Given the description of an element on the screen output the (x, y) to click on. 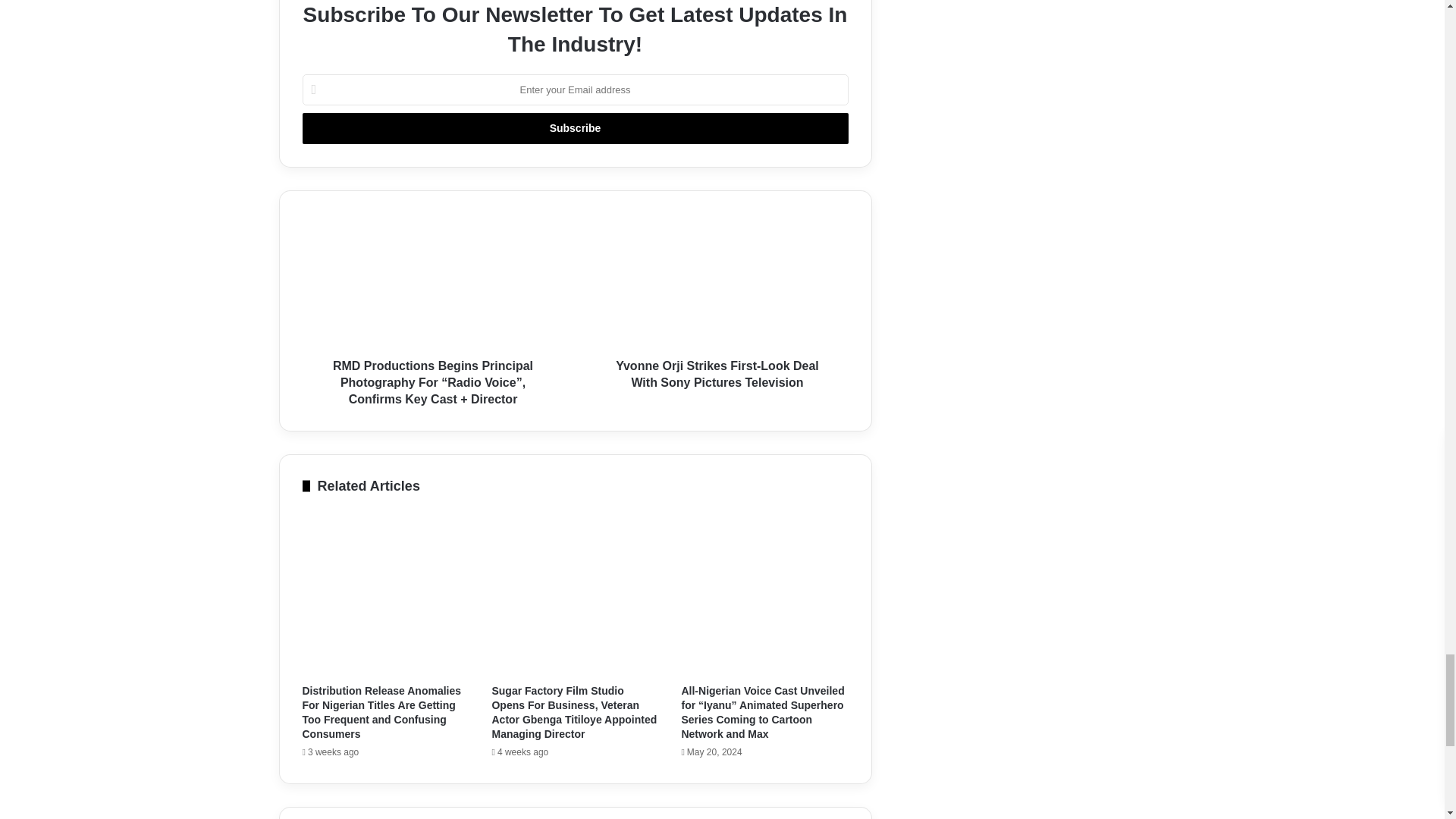
Subscribe (574, 128)
Subscribe (574, 128)
